Given the description of an element on the screen output the (x, y) to click on. 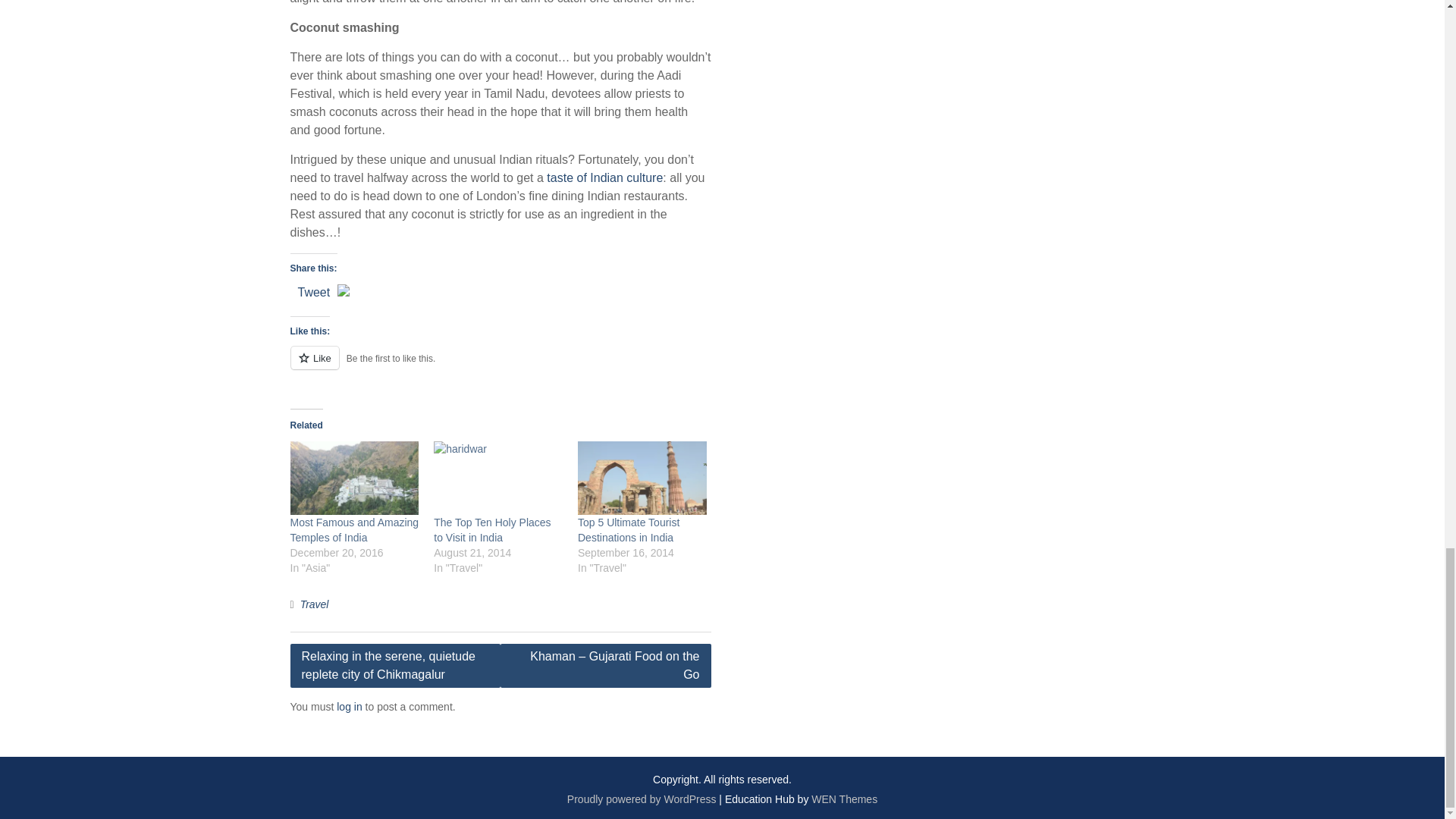
Most Famous and Amazing Temples of India (354, 529)
The Top Ten Holy Places to Visit in India (497, 478)
Like or Reblog (499, 366)
The Top Ten Holy Places to Visit in India (491, 529)
Top 5 Ultimate Tourist Destinations in India (642, 478)
Most Famous and Amazing Temples of India (354, 478)
Top 5 Ultimate Tourist Destinations in India (628, 529)
